Given the description of an element on the screen output the (x, y) to click on. 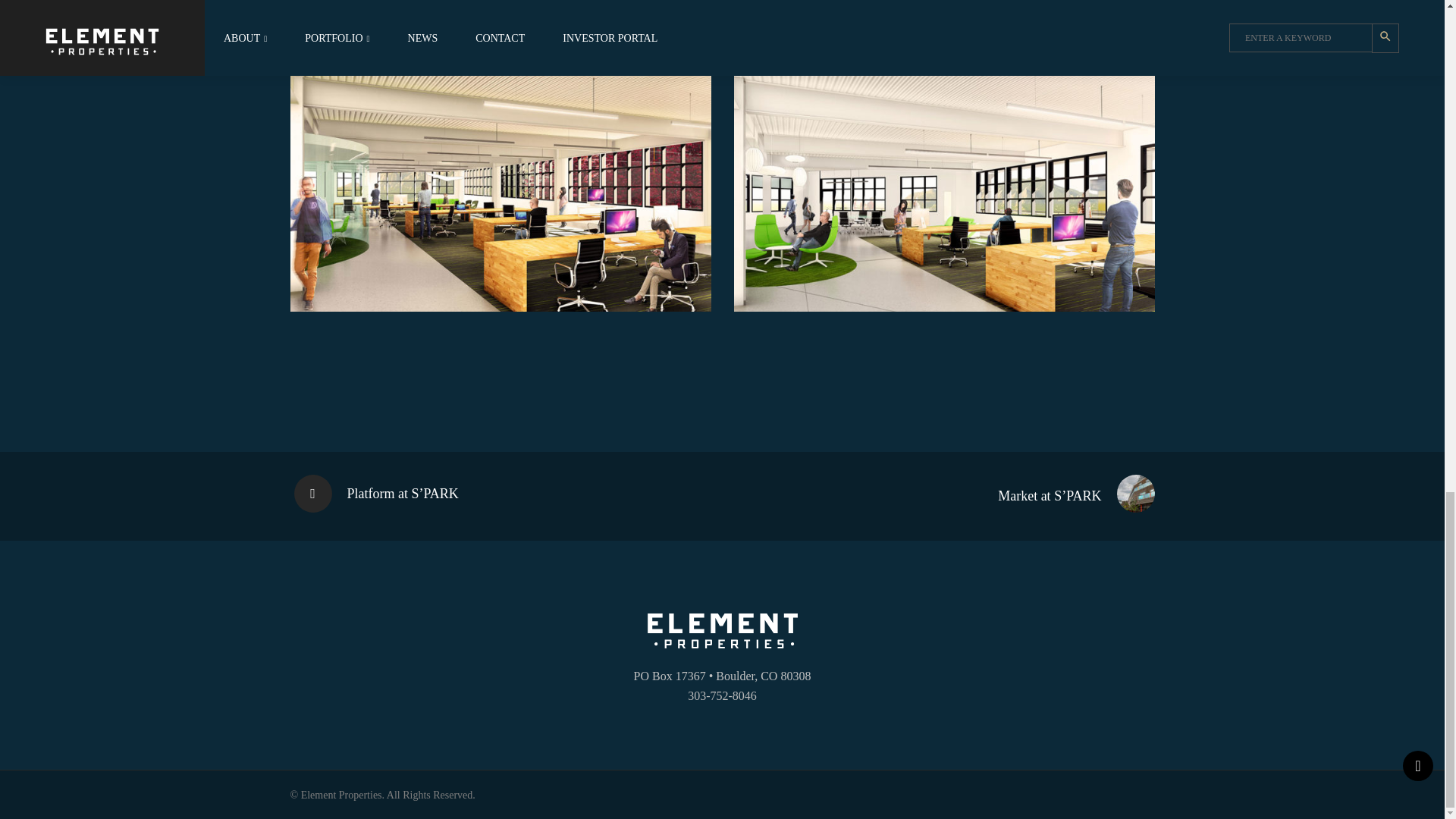
303-752-8046 (722, 695)
Railyards-at-SPARK-03 (499, 185)
Railyards-at-SPARK-02 (943, 185)
